Given the description of an element on the screen output the (x, y) to click on. 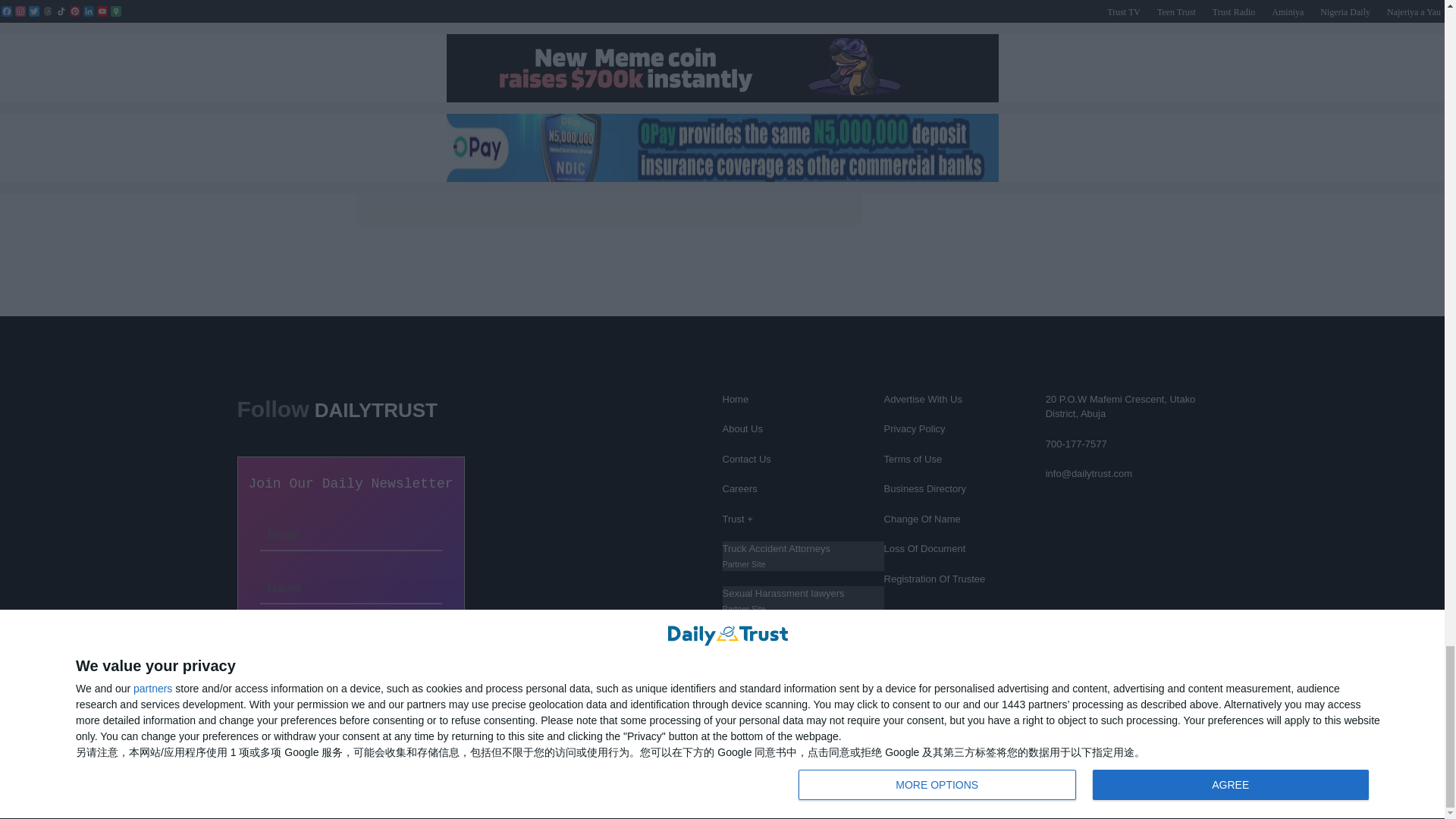
Join Now (350, 634)
